Given the description of an element on the screen output the (x, y) to click on. 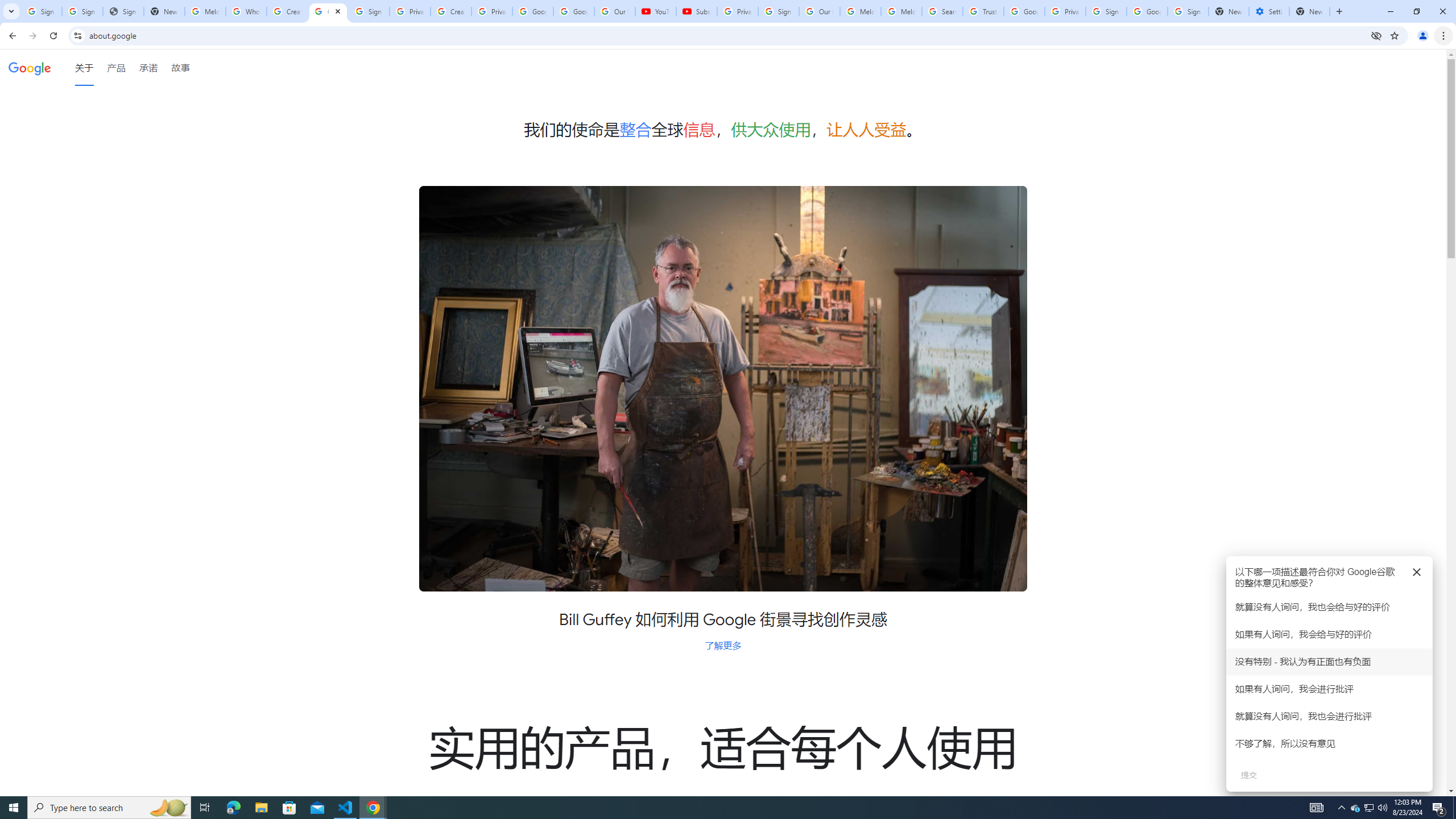
Sign in - Google Accounts (81, 11)
Search tabs (10, 11)
Settings - Addresses and more (1268, 11)
Sign in - Google Accounts (41, 11)
New Tab (1309, 11)
Close (338, 11)
Back (10, 35)
Search our Doodle Library Collection - Google Doodles (942, 11)
System (6, 6)
